Given the description of an element on the screen output the (x, y) to click on. 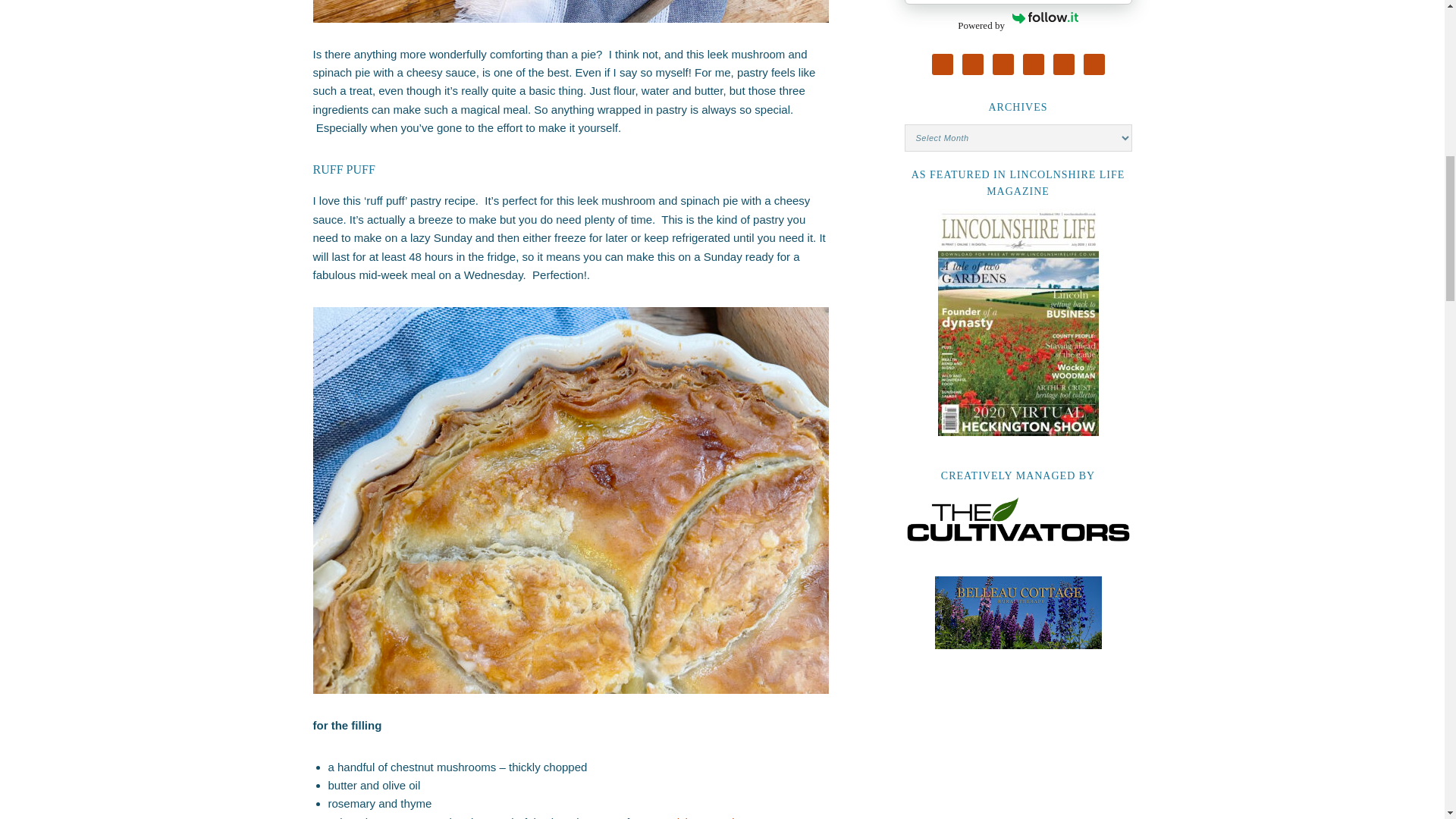
creatively managed by (1017, 518)
Cornish Sea Salt (695, 817)
as featured in Lincolnshire Life Magazine (1017, 321)
